Given the description of an element on the screen output the (x, y) to click on. 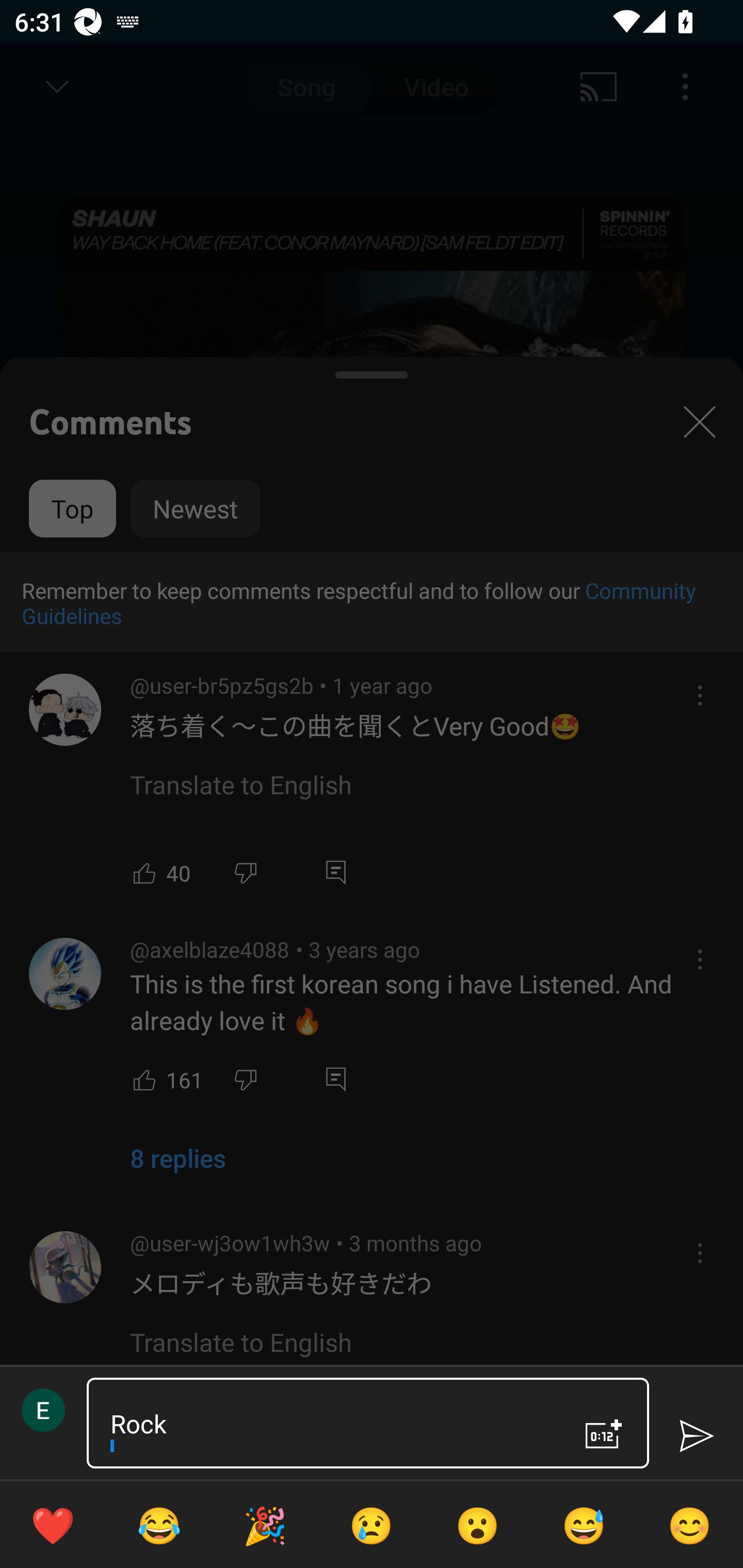
Rock
 (329, 1422)
Add a timestamp (603, 1433)
Send comment (695, 1436)
❤ (53, 1524)
😂 (158, 1524)
🎉 (264, 1524)
😢 (371, 1524)
😮 (477, 1524)
😅 (583, 1524)
😊 (689, 1524)
